Given the description of an element on the screen output the (x, y) to click on. 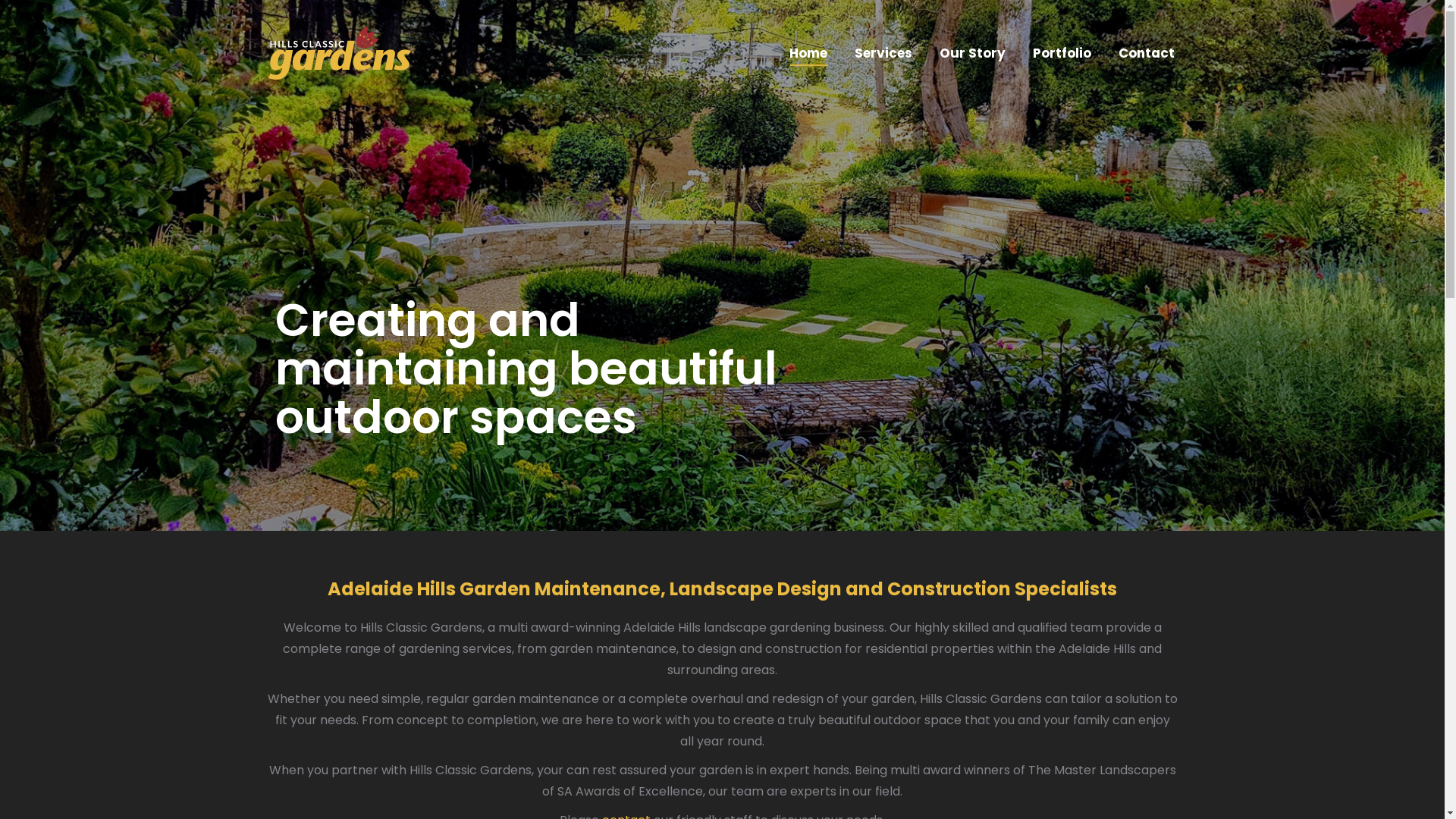
Portfolio Element type: text (1061, 53)
Our Story Element type: text (971, 53)
Services Element type: text (882, 53)
Home Element type: text (807, 53)
Contact Element type: text (1145, 53)
